Given the description of an element on the screen output the (x, y) to click on. 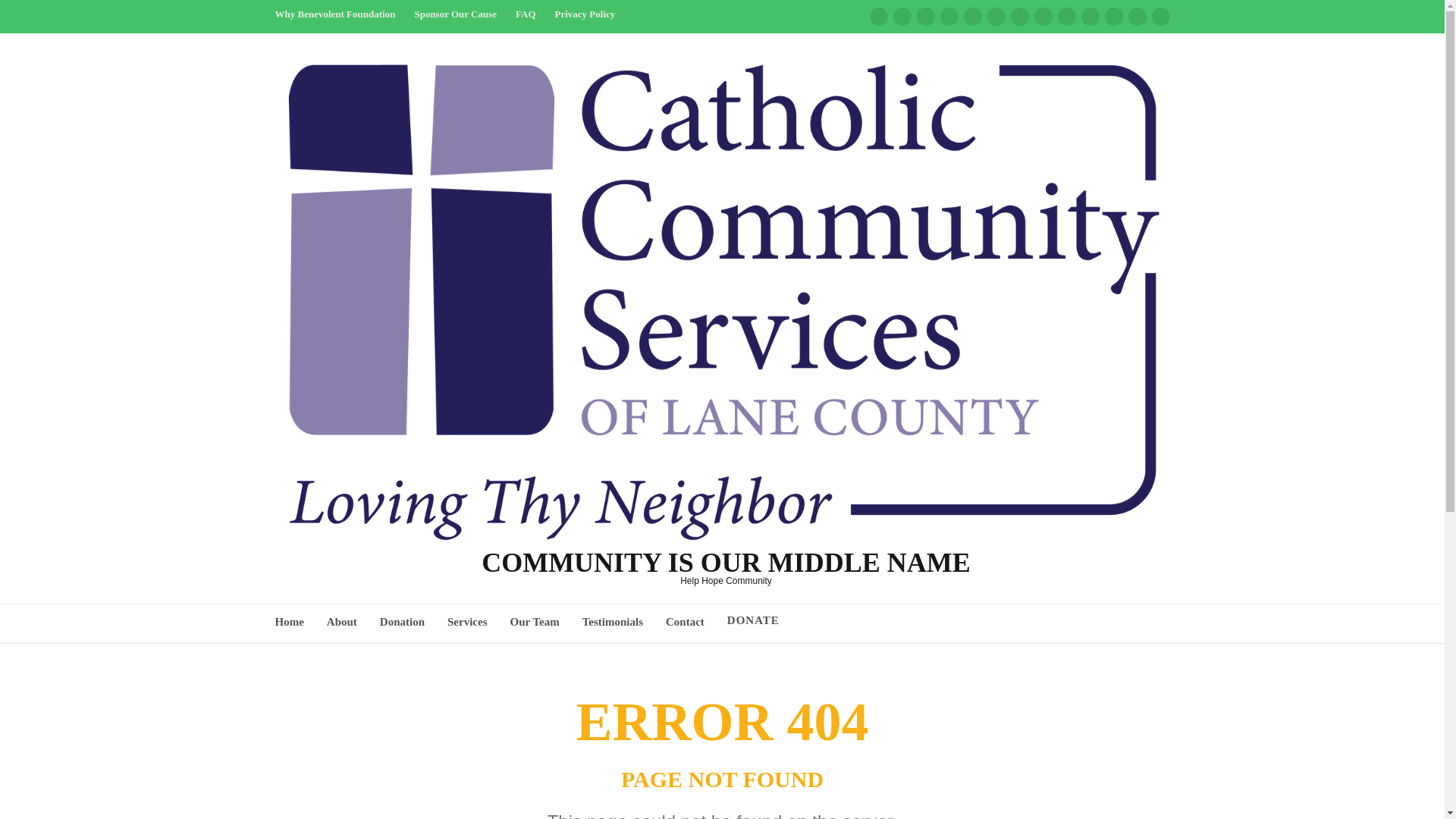
instagram (924, 16)
Privacy Policy (584, 20)
x-twitter (902, 16)
Sponsor Our Cause (454, 20)
Why Benevolent Foundation (334, 20)
facebook (877, 16)
flickr (949, 16)
